Given the description of an element on the screen output the (x, y) to click on. 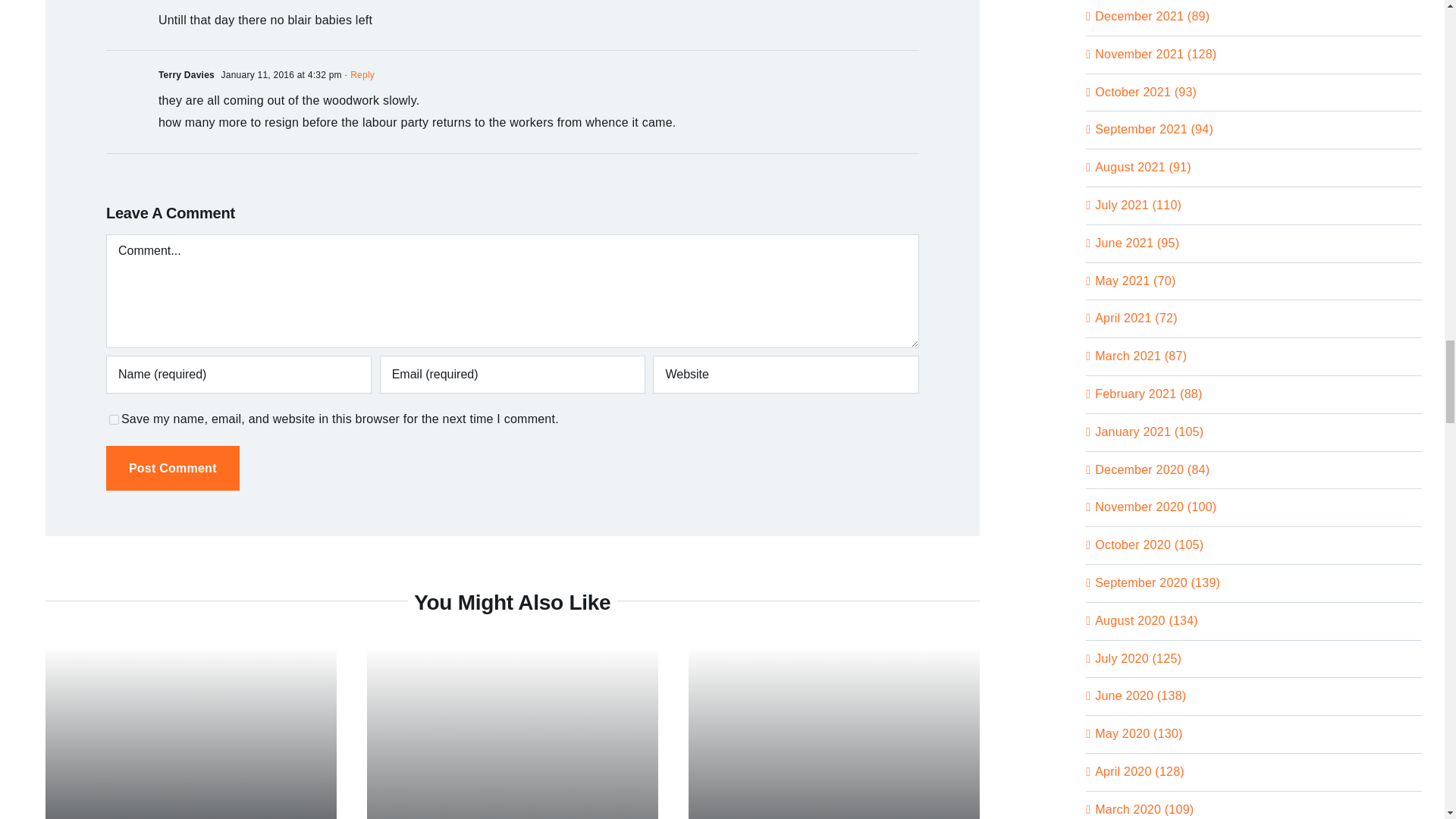
Post Comment (173, 467)
- Reply (358, 74)
yes (114, 419)
Post Comment (173, 467)
